Given the description of an element on the screen output the (x, y) to click on. 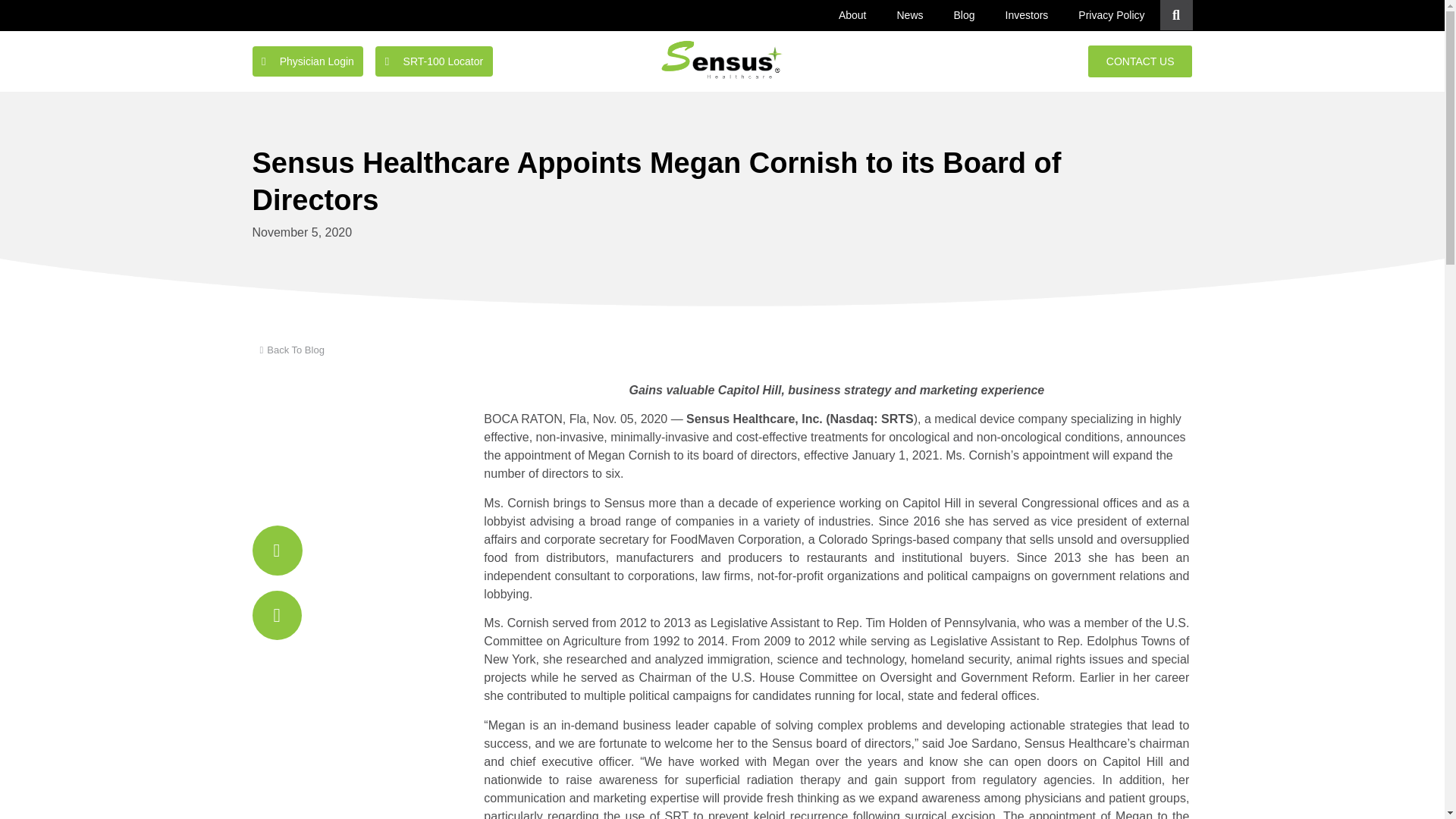
SRT-100 Locator (433, 60)
Investors (1027, 15)
Privacy Policy (1110, 15)
CONTACT US (1139, 60)
Blog (964, 15)
Back To Blog (287, 350)
About (853, 15)
News (908, 15)
Physician Login (306, 60)
